Given the description of an element on the screen output the (x, y) to click on. 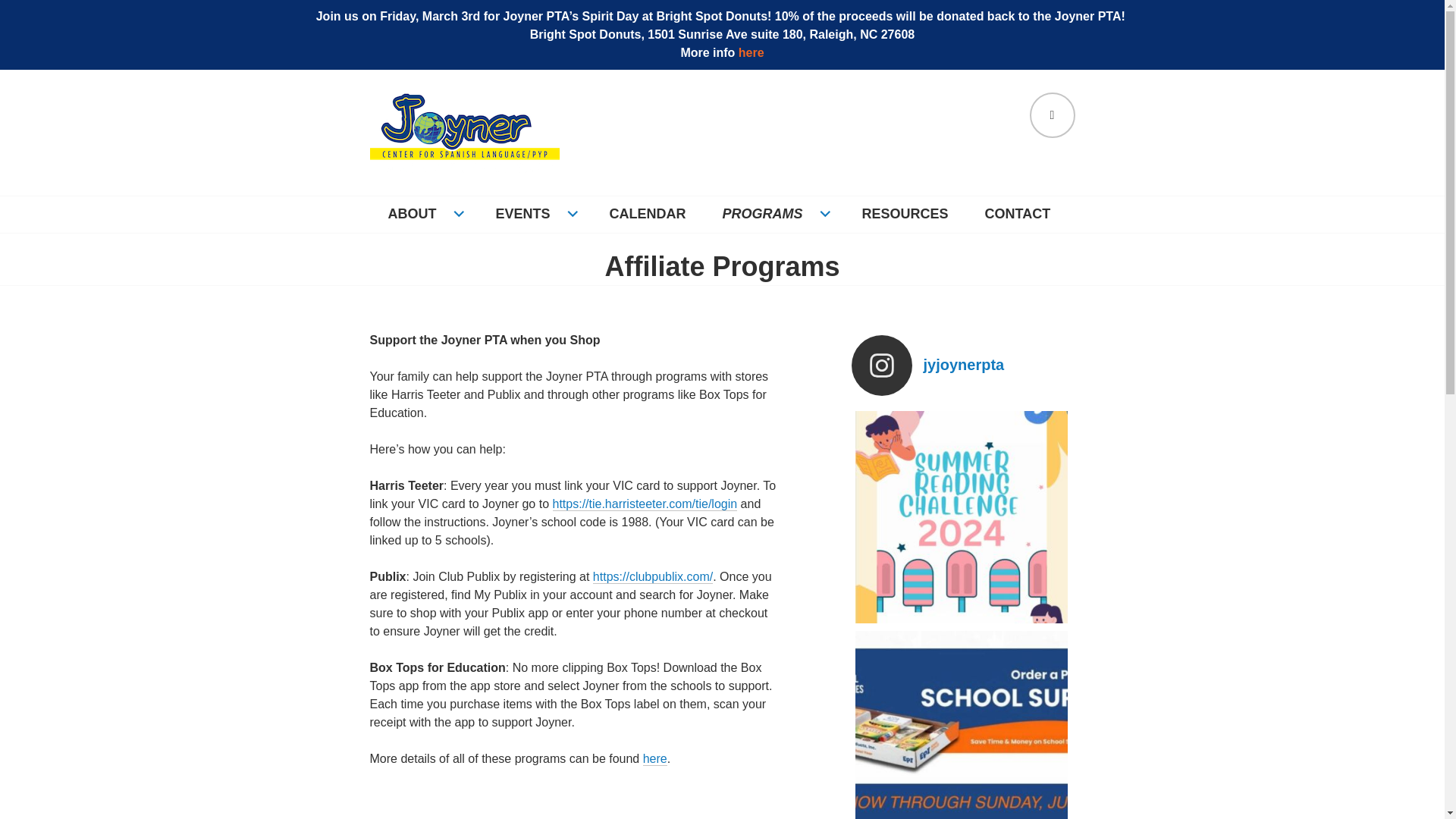
SEARCH (1052, 115)
CALENDAR (647, 214)
here (751, 51)
PROGRAMS (774, 214)
ABOUT (423, 214)
here (654, 758)
EVENTS (534, 214)
jyjoynerpta (960, 364)
RESOURCES (905, 214)
JY JOYNER PTA (476, 198)
CONTACT (1017, 214)
